Given the description of an element on the screen output the (x, y) to click on. 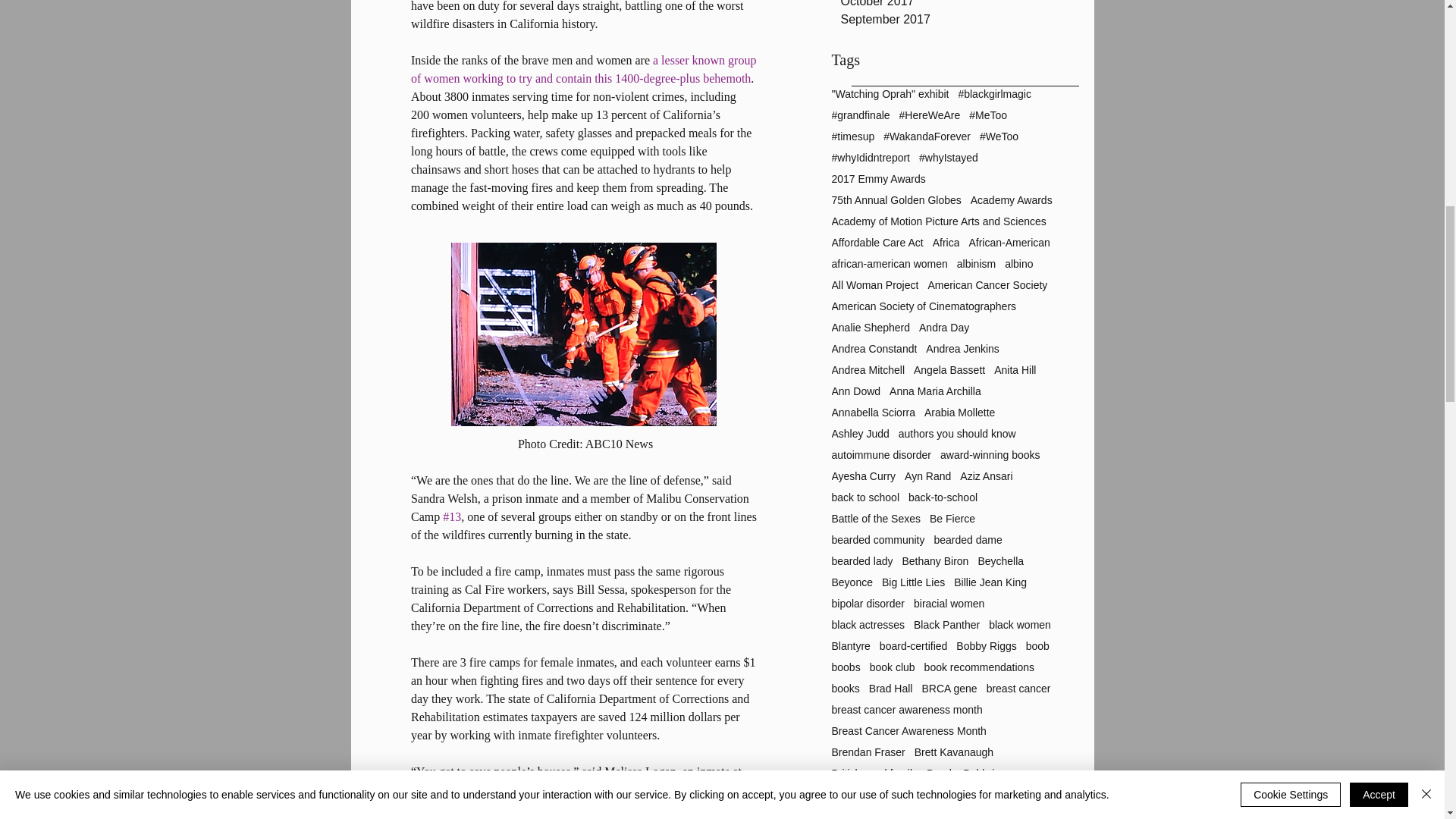
"Watching Oprah" exhibit (890, 93)
September 2017 (953, 19)
October 2017 (953, 5)
